Given the description of an element on the screen output the (x, y) to click on. 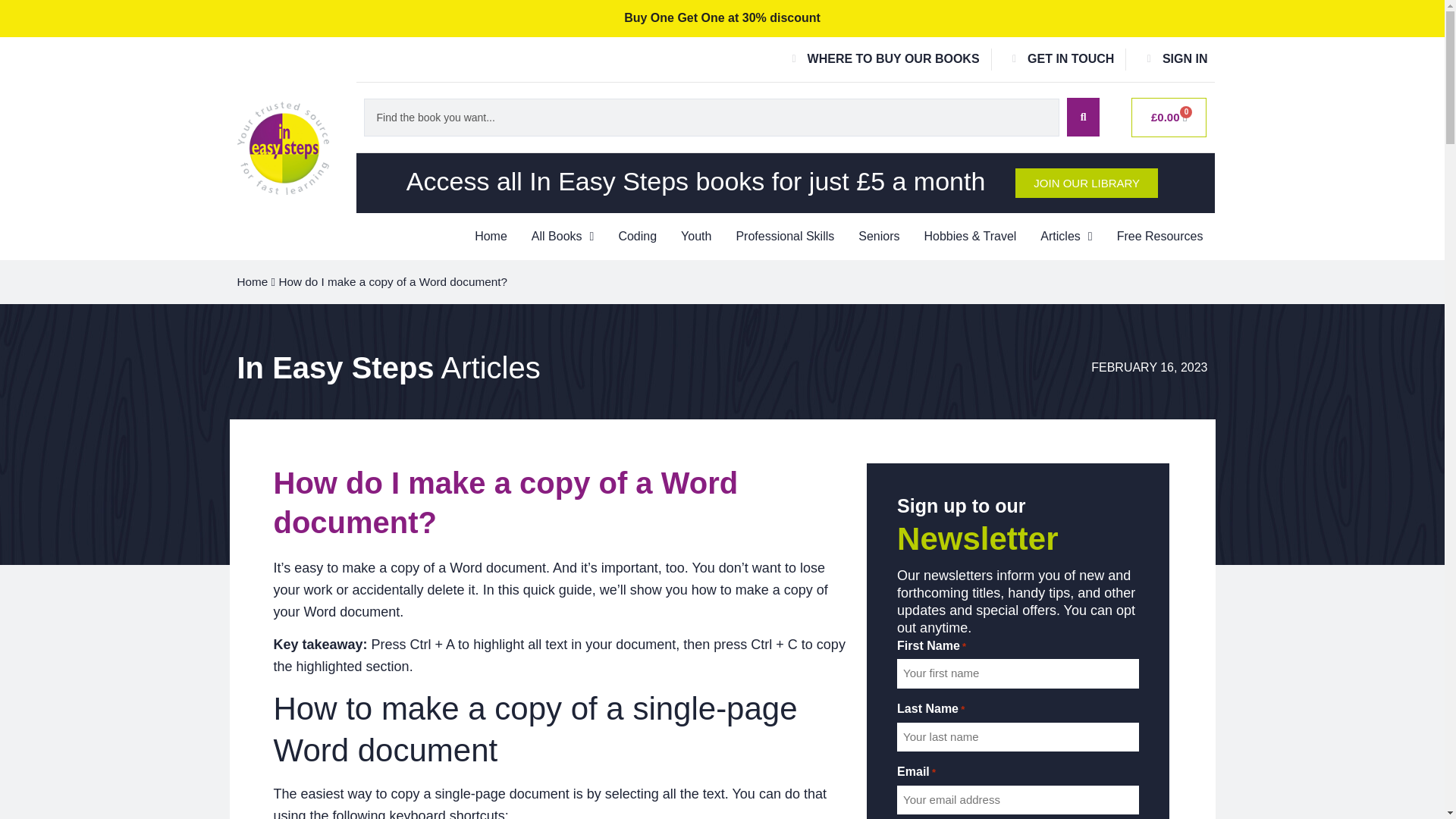
Free Resources (1160, 236)
SIGN IN (1172, 59)
GET IN TOUCH (1059, 59)
JOIN OUR LIBRARY (1085, 183)
Home (491, 236)
All Books (562, 236)
Articles (1065, 236)
WHERE TO BUY OUR BOOKS (880, 59)
Seniors (879, 236)
Youth (696, 236)
Professional Skills (784, 236)
Coding (636, 236)
